Given the description of an element on the screen output the (x, y) to click on. 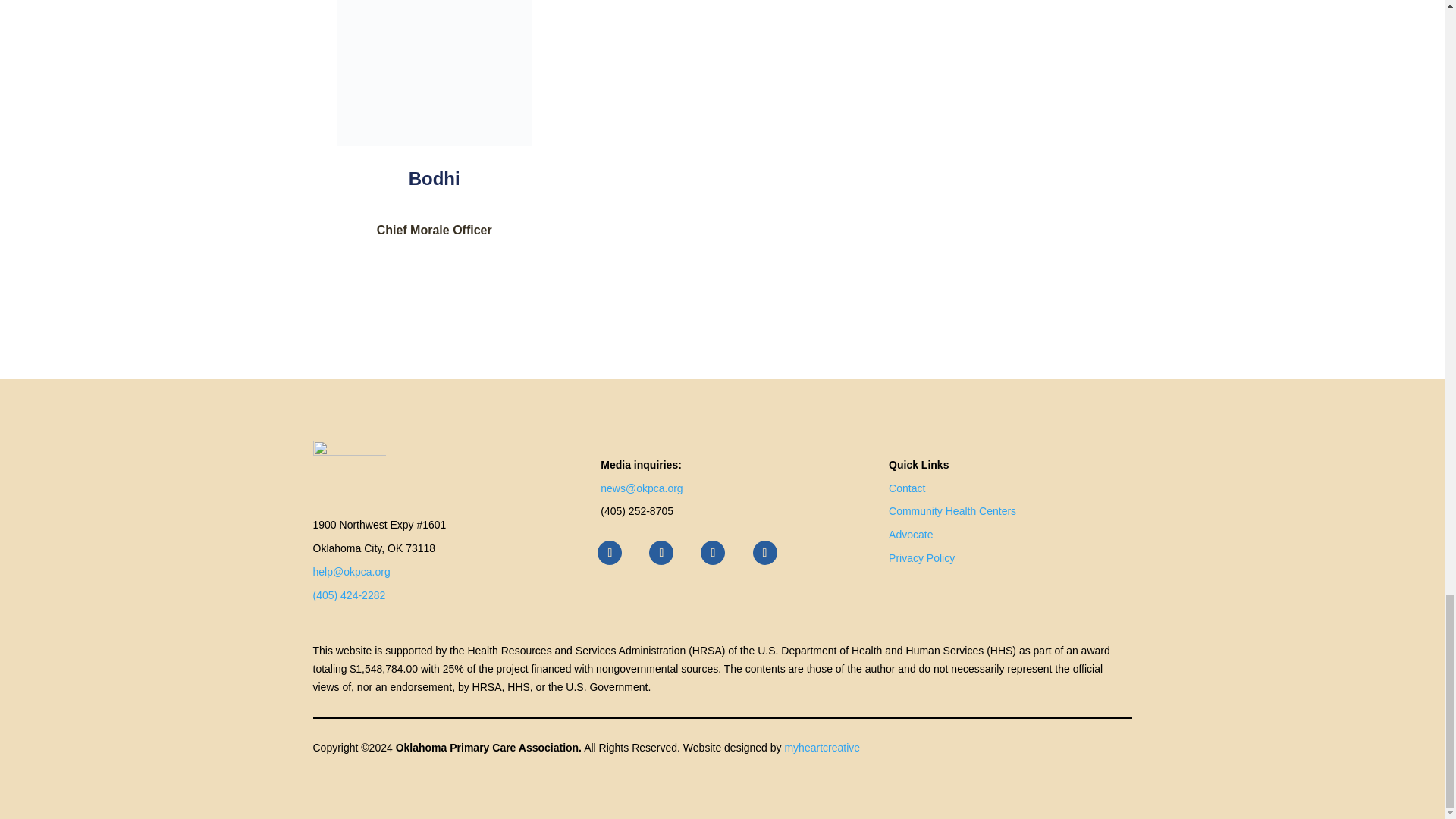
Follow on Facebook (608, 552)
Bodhi (434, 72)
footer-logo (349, 468)
